Given the description of an element on the screen output the (x, y) to click on. 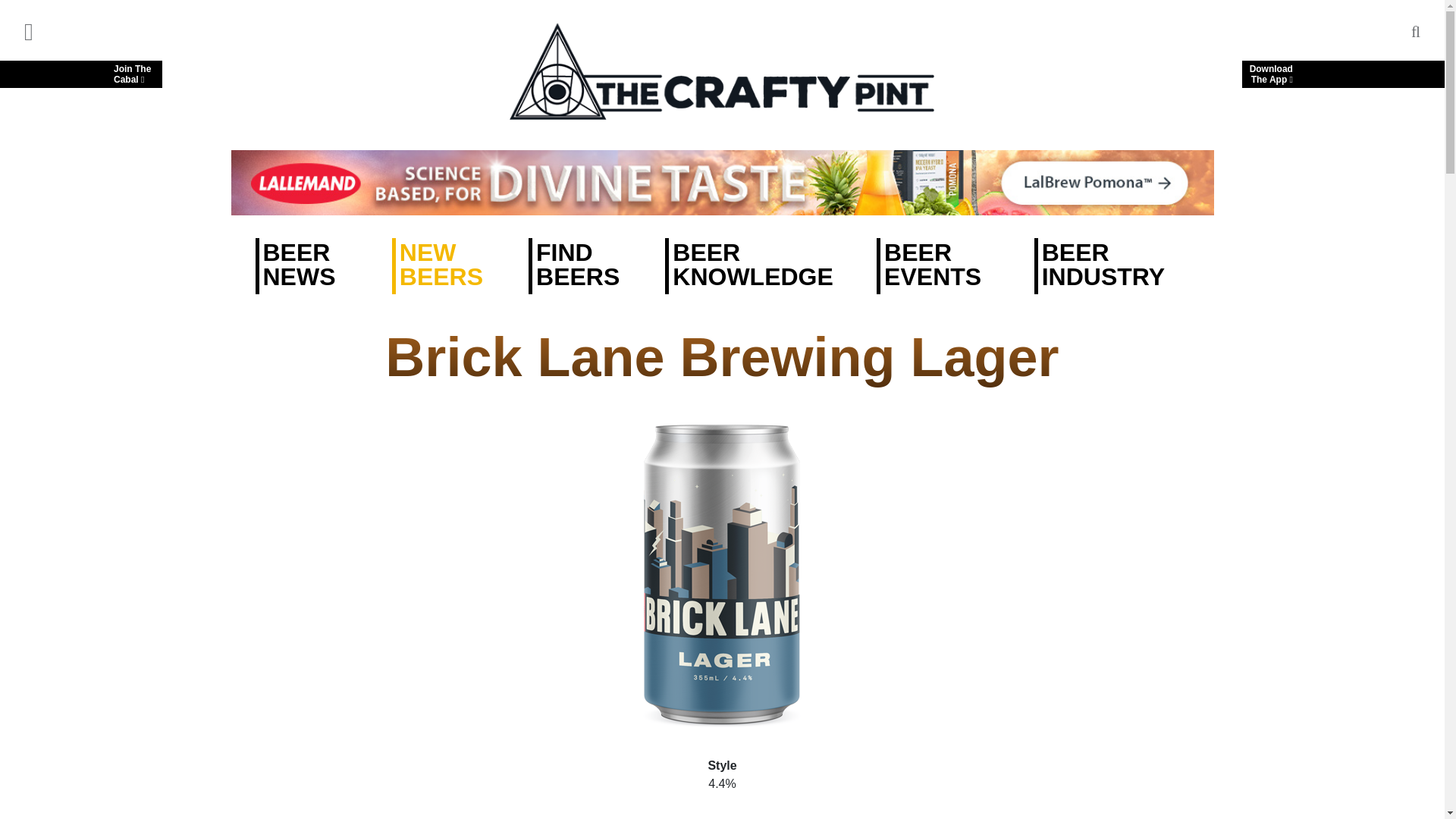
Lallemand Pomona A (80, 73)
